Given the description of an element on the screen output the (x, y) to click on. 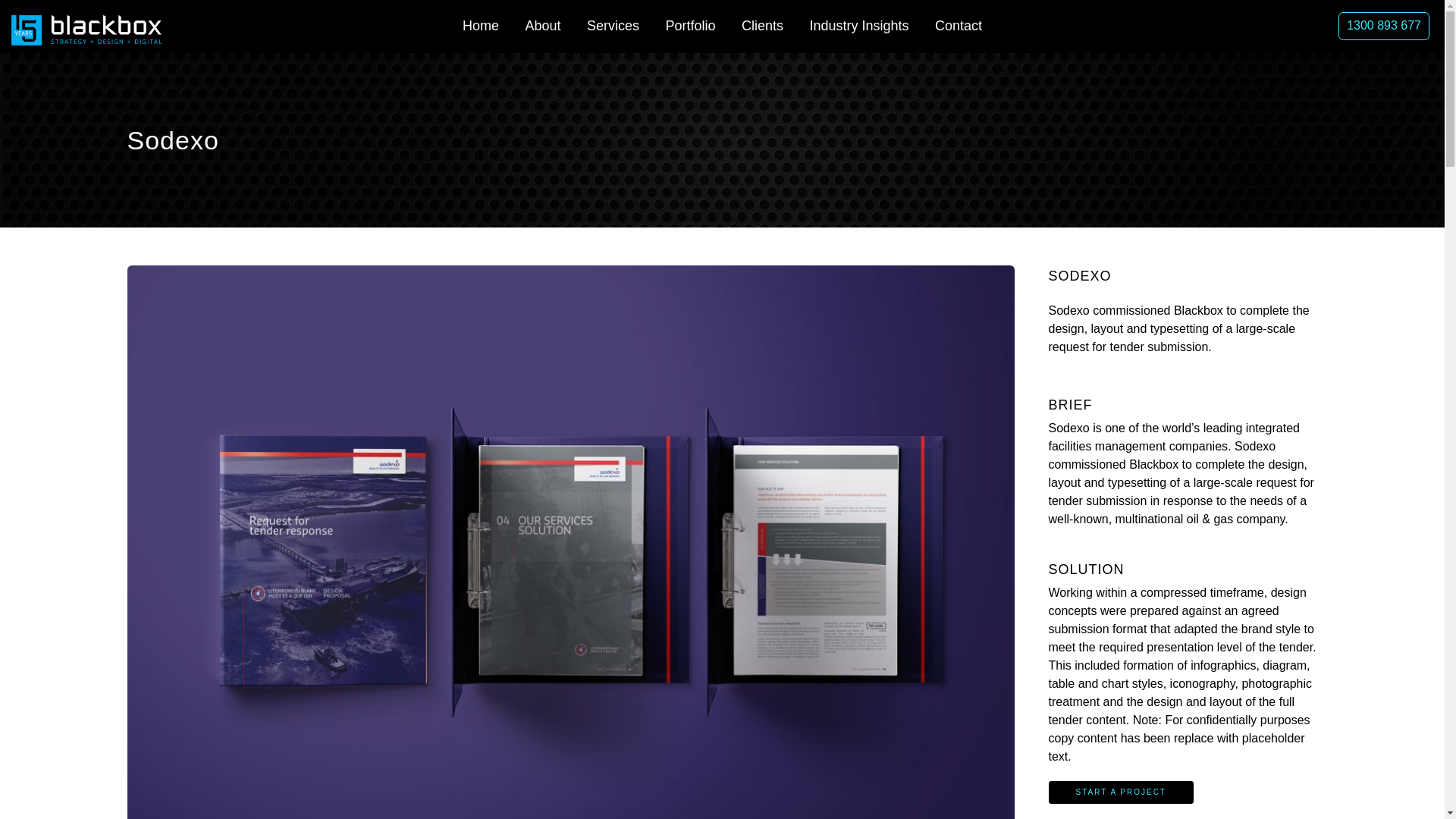
1300 893 677 (1383, 26)
Contact (957, 25)
START A PROJECT (1120, 792)
Portfolio (689, 25)
About (542, 25)
Clients (762, 25)
Industry Insights (858, 25)
Home (481, 25)
Services (612, 25)
